Given the description of an element on the screen output the (x, y) to click on. 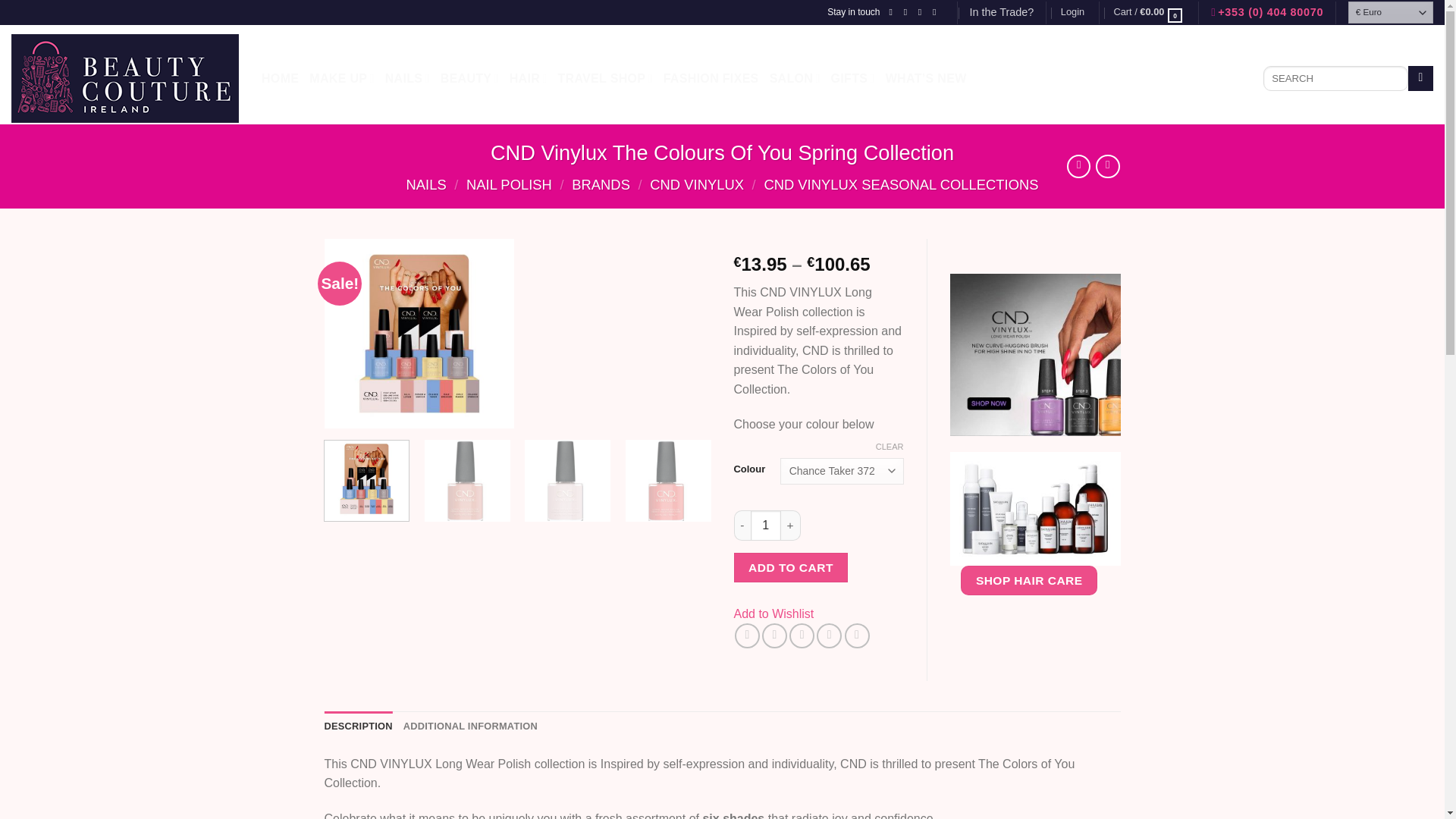
In the Trade? (1001, 12)
Pin on Pinterest (828, 635)
1 (765, 525)
Share on Twitter (774, 635)
Login (1072, 11)
Login (1072, 11)
Cart (1148, 11)
Email to a Friend (801, 635)
MAKE UP (341, 78)
